Given the description of an element on the screen output the (x, y) to click on. 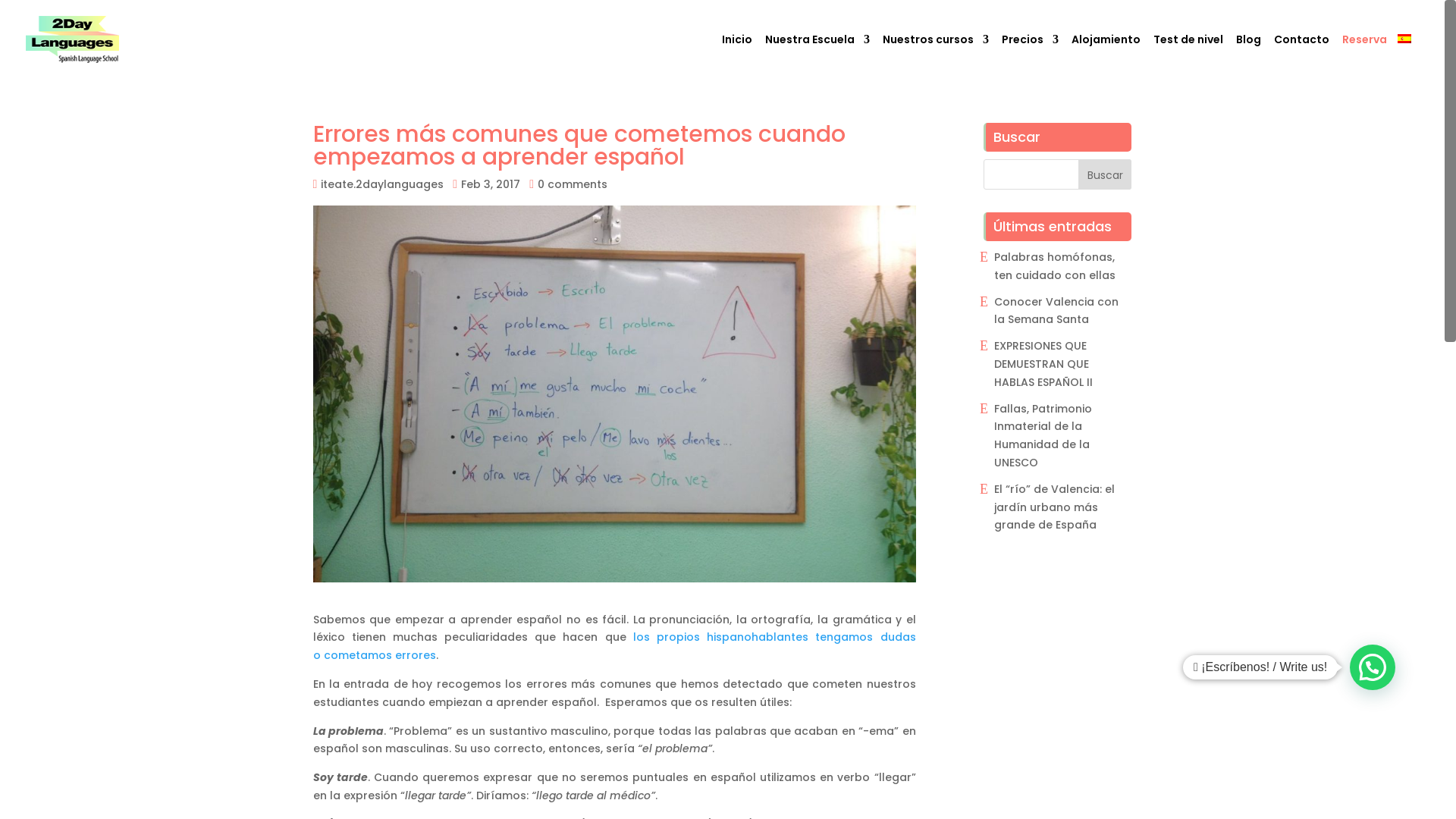
Nuestra Escuela Element type: text (817, 56)
Buscar Element type: text (1104, 174)
Precios Element type: text (1029, 56)
0 comments Element type: text (572, 183)
Nuestros cursos Element type: text (935, 56)
Fallas, Patrimonio Inmaterial de la Humanidad de la UNESCO Element type: text (1043, 435)
Blog Element type: text (1248, 56)
Alojamiento Element type: text (1105, 56)
iteate.2daylanguages Element type: text (381, 183)
Reserva Element type: text (1364, 56)
Contacto Element type: text (1301, 56)
Test de nivel Element type: text (1188, 56)
Inicio Element type: text (736, 56)
Conocer Valencia con la Semana Santa Element type: text (1056, 310)
